Given the description of an element on the screen output the (x, y) to click on. 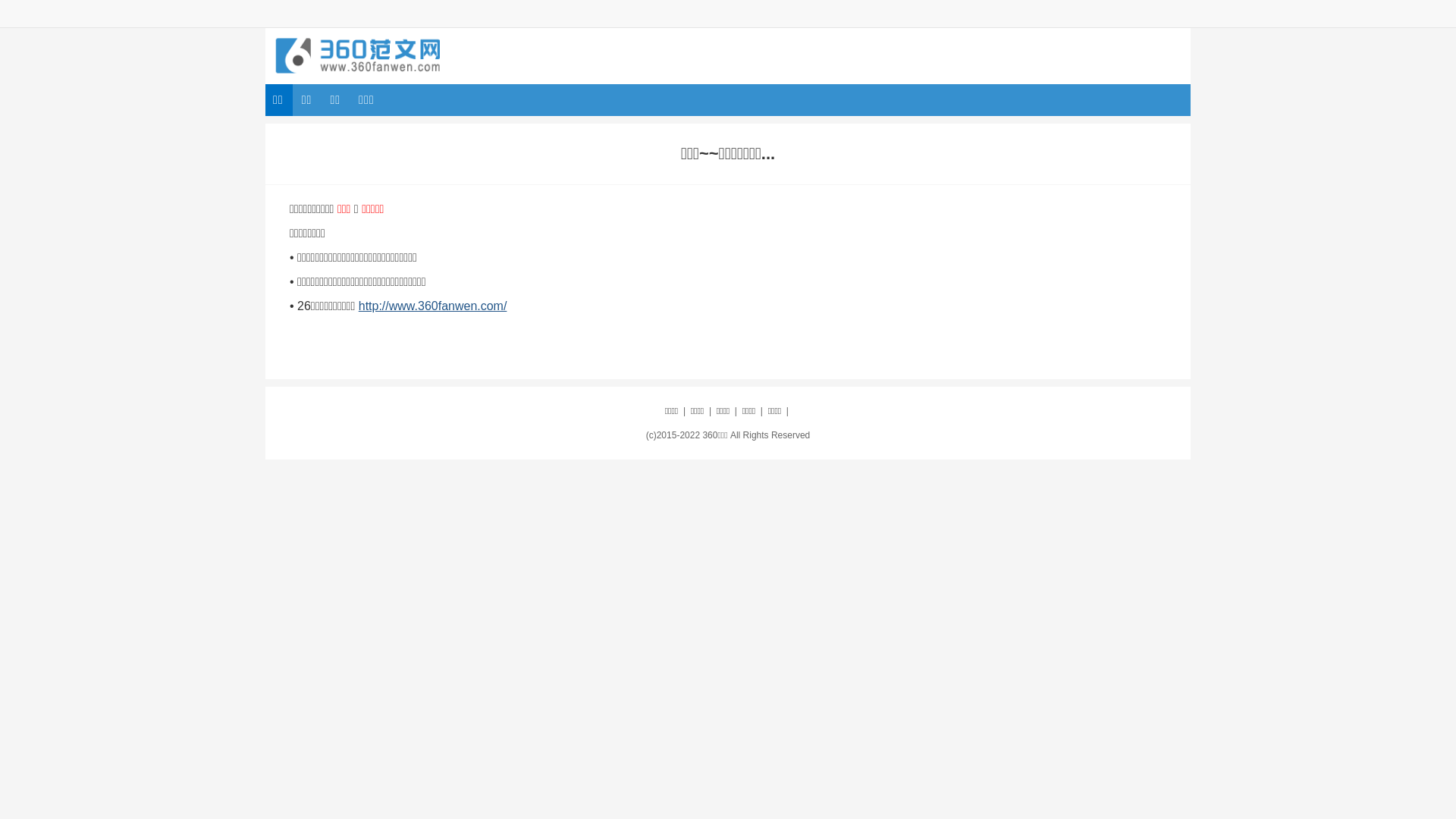
http://www.360fanwen.com/ Element type: text (432, 305)
